Given the description of an element on the screen output the (x, y) to click on. 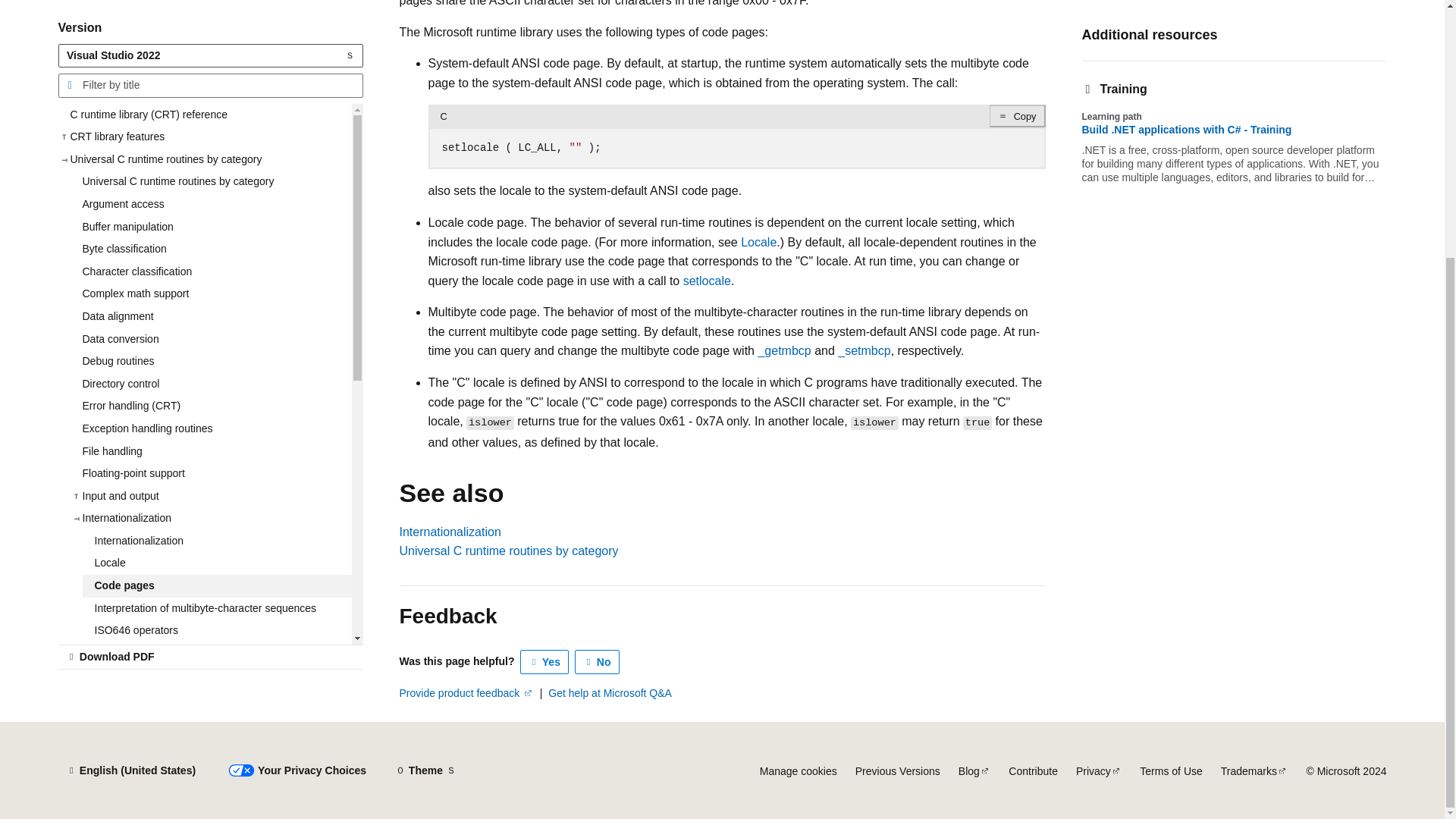
Theme (425, 770)
This article is not helpful (597, 662)
This article is helpful (544, 662)
